Given the description of an element on the screen output the (x, y) to click on. 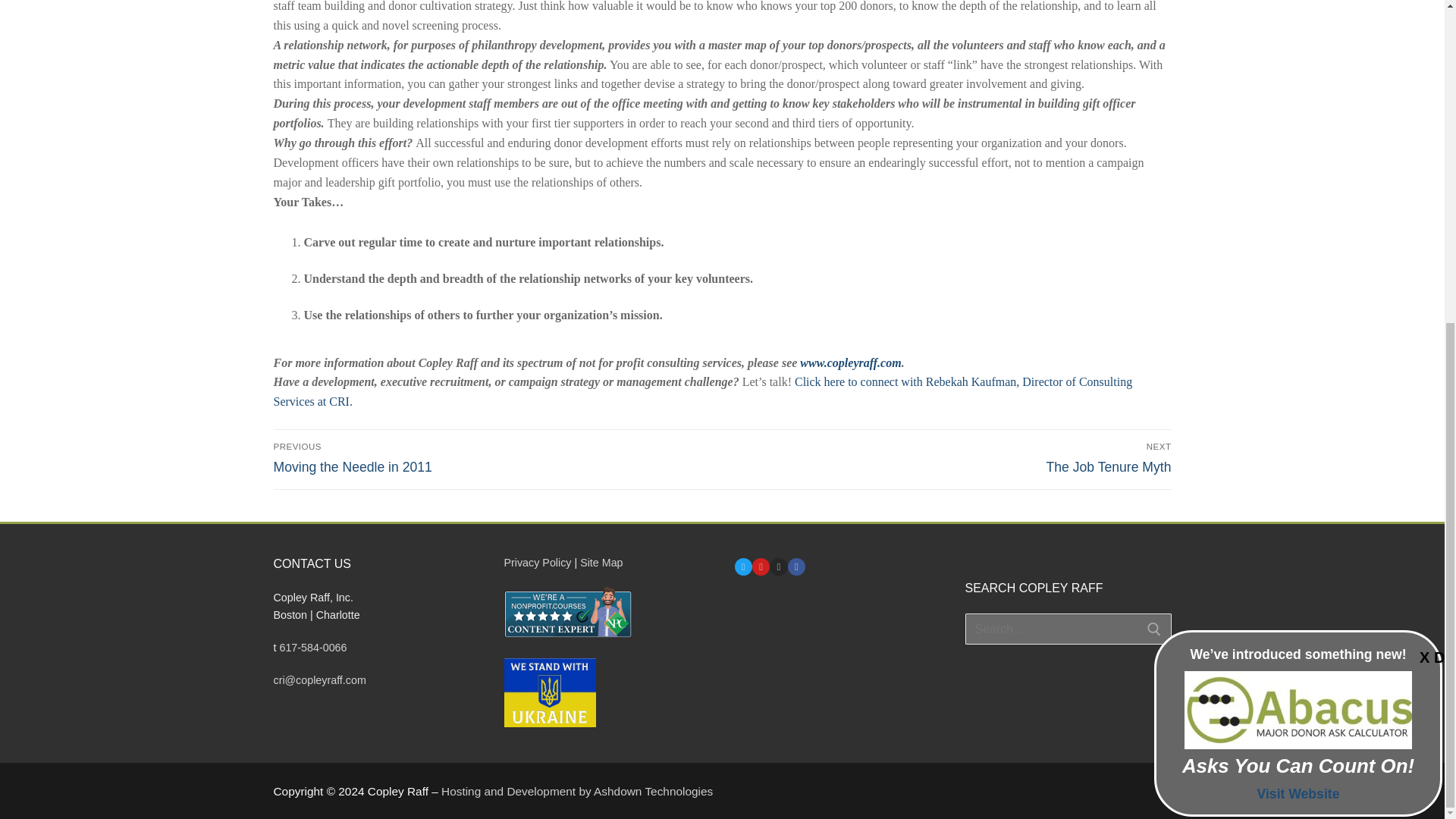
Twitter (743, 566)
Instagram (778, 566)
Youtube (760, 566)
Search for: (1066, 629)
Facebook (797, 566)
